Given the description of an element on the screen output the (x, y) to click on. 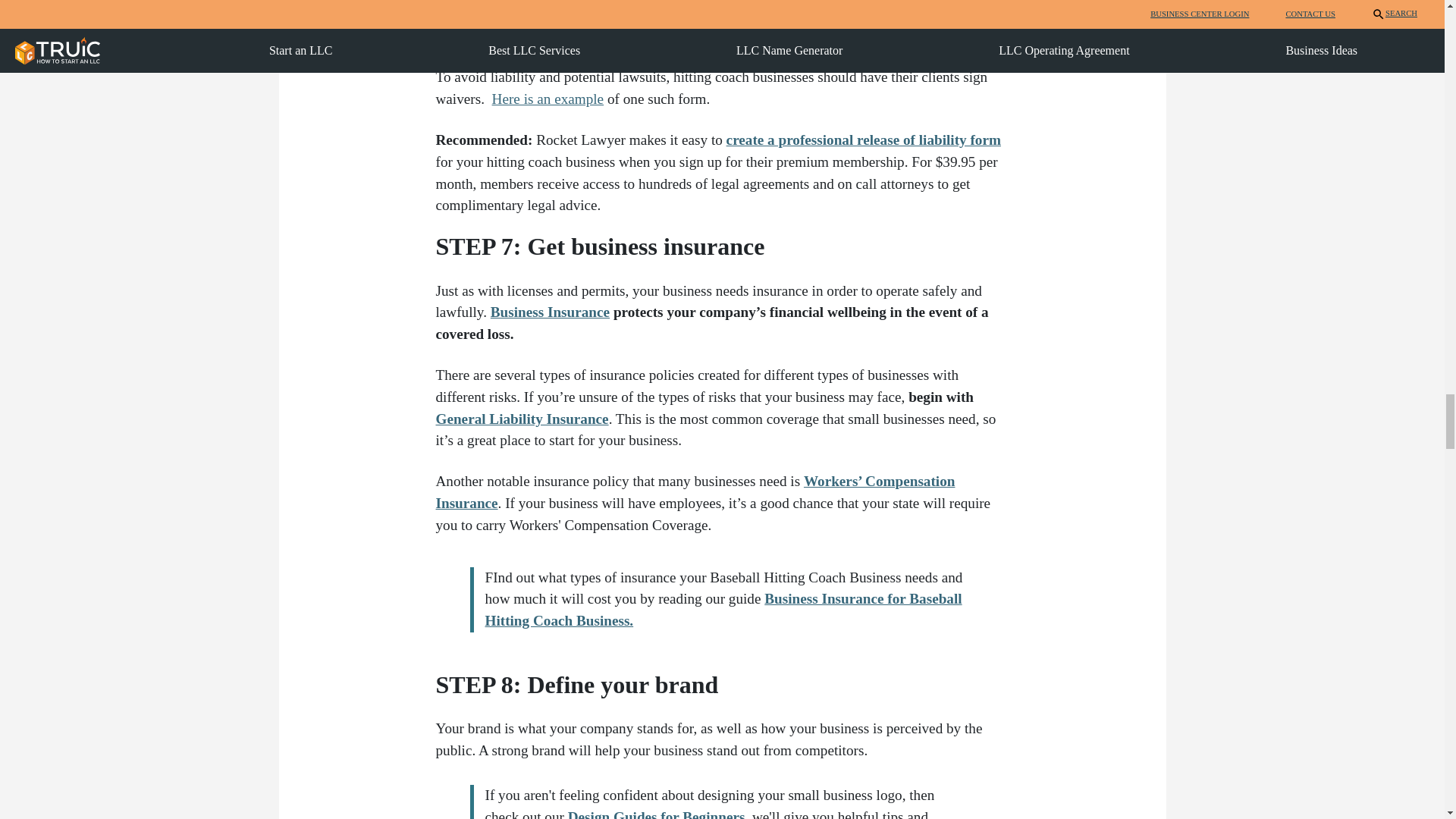
General Liability Insurance (521, 418)
Business Insurance for Baseball Hitting Coach Business (723, 609)
Business Insurance (550, 311)
Workers' Compensation Insurance (695, 492)
